Given the description of an element on the screen output the (x, y) to click on. 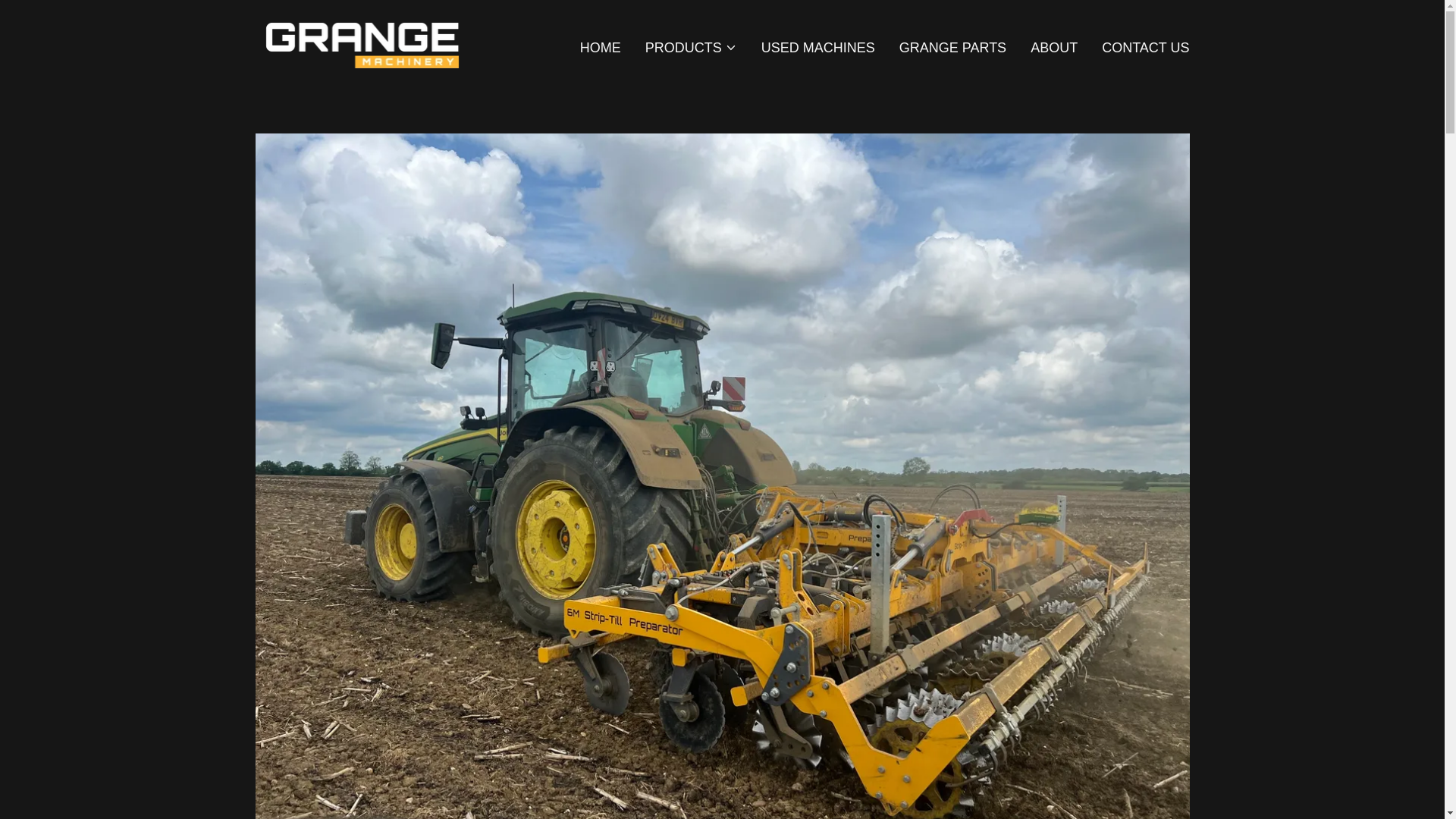
ABOUT (1053, 46)
USED MACHINES (818, 46)
CONTACT US (1145, 46)
HOME (600, 46)
GRANGE PARTS (952, 46)
PRODUCTS (690, 46)
